Given the description of an element on the screen output the (x, y) to click on. 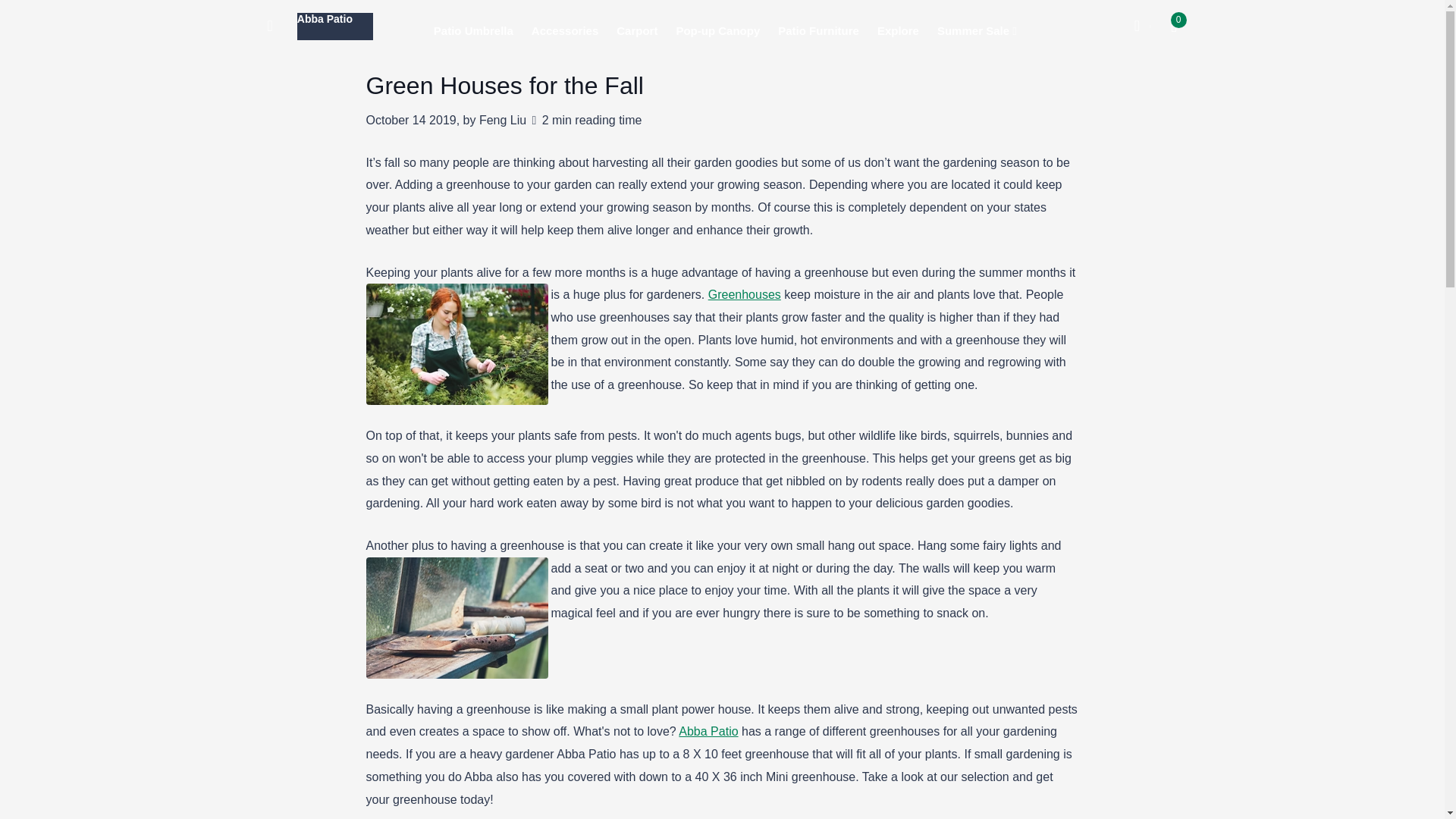
Patio Umbrella (473, 30)
Pop-up Canopy (717, 30)
Accessories (564, 30)
Explore (897, 30)
Patio Furniture (818, 30)
Carport (636, 30)
